Given the description of an element on the screen output the (x, y) to click on. 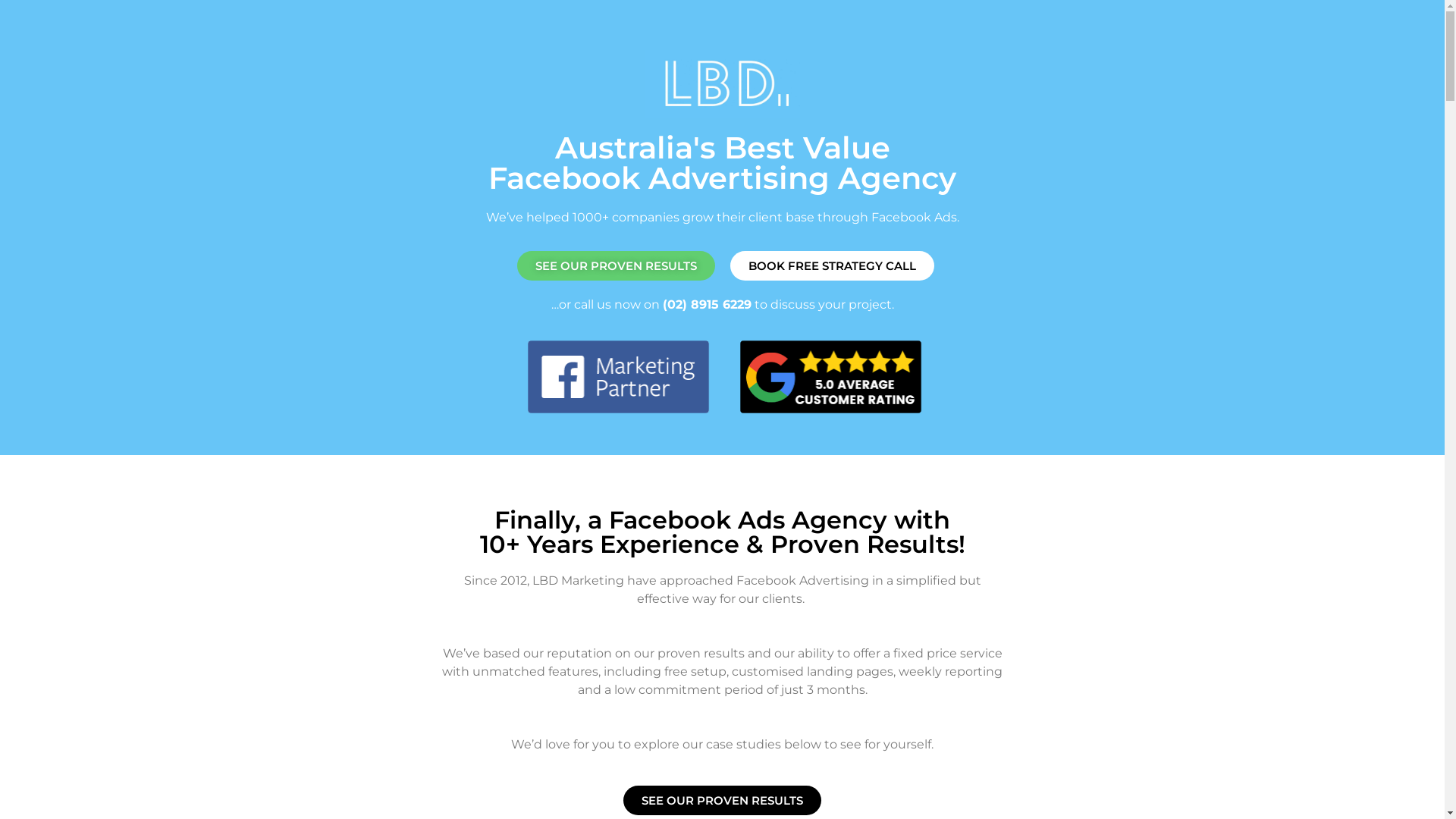
SEE OUR PROVEN RESULTS Element type: text (722, 800)
SEE OUR PROVEN RESULTS Element type: text (616, 265)
BOOK FREE STRATEGY CALL Element type: text (831, 265)
